Given the description of an element on the screen output the (x, y) to click on. 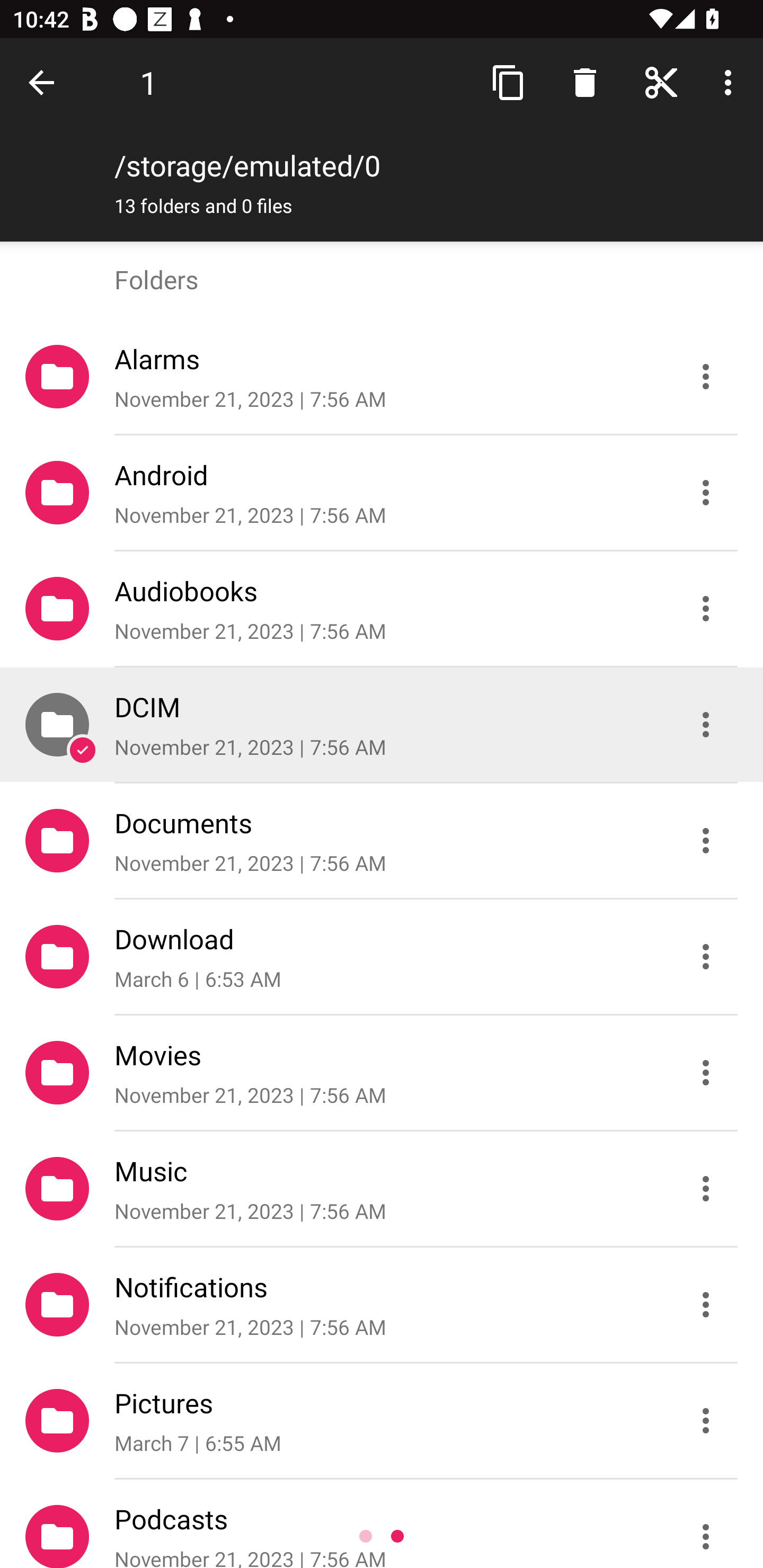
1 (148, 82)
Done (44, 81)
Copy (508, 81)
Delete (585, 81)
Search (661, 81)
More options (731, 81)
Alarms November 21, 2023 | 7:56 AM (381, 376)
Android November 21, 2023 | 7:56 AM (381, 492)
Audiobooks November 21, 2023 | 7:56 AM (381, 608)
DCIM November 21, 2023 | 7:56 AM (381, 724)
Documents November 21, 2023 | 7:56 AM (381, 841)
Download March 6 | 6:53 AM (381, 957)
Movies November 21, 2023 | 7:56 AM (381, 1073)
Music November 21, 2023 | 7:56 AM (381, 1189)
Notifications November 21, 2023 | 7:56 AM (381, 1305)
Pictures March 7 | 6:55 AM (381, 1421)
Podcasts November 21, 2023 | 7:56 AM (381, 1524)
